Given the description of an element on the screen output the (x, y) to click on. 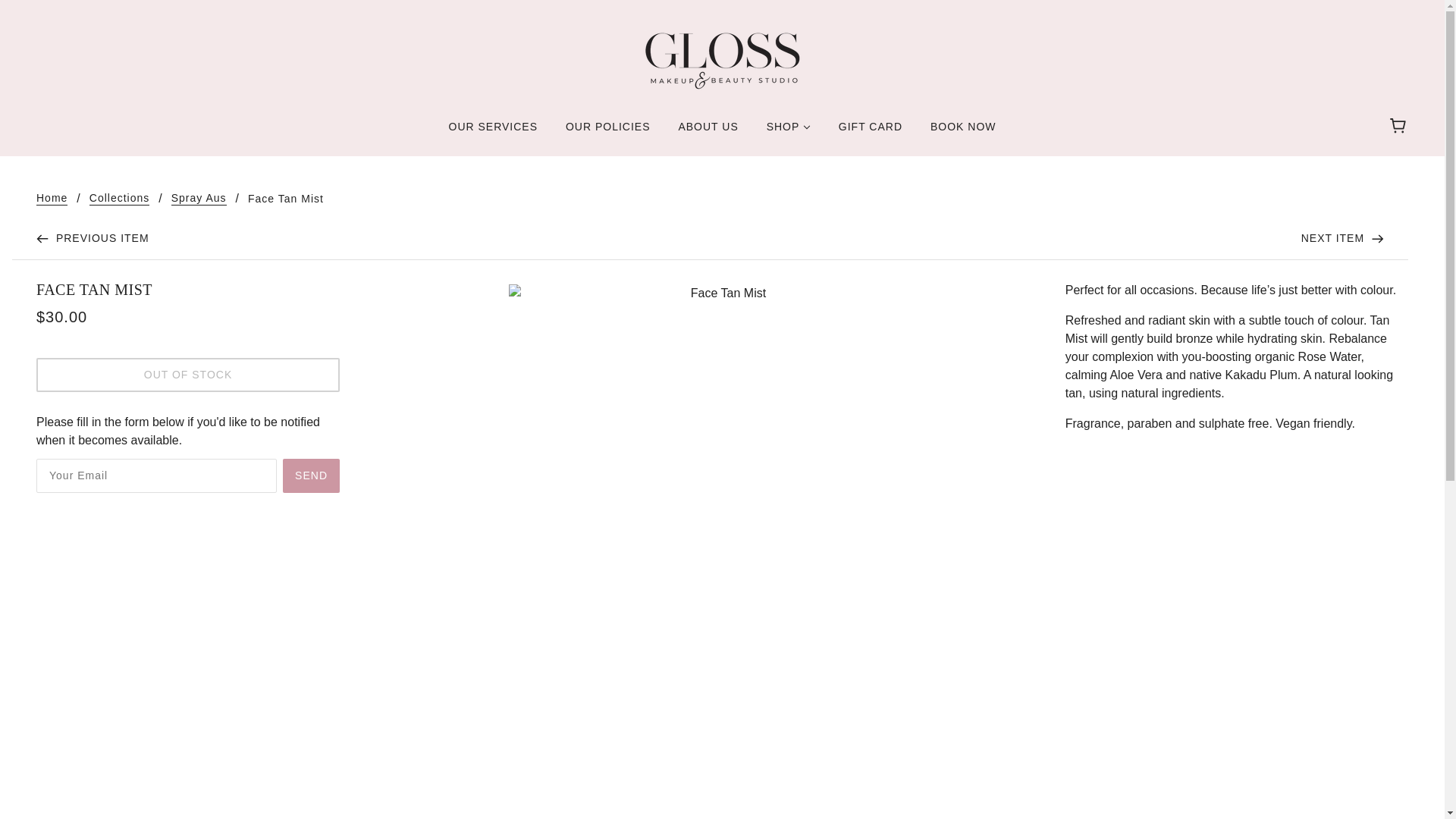
Spray Aus (199, 198)
OUR POLICIES (607, 132)
Tan Reverser (92, 238)
GIFT CARD (870, 132)
ABOUT US (707, 132)
BOOK NOW (963, 132)
NEXT ITEM (1342, 238)
Collections (118, 198)
OUT OF STOCK (187, 374)
DARK Face Tan Mist (1342, 238)
Home (51, 198)
OUR SERVICES (493, 132)
PREVIOUS ITEM (92, 238)
Gloss Makeup and Beauty Studio (721, 59)
SHOP (788, 132)
